Given the description of an element on the screen output the (x, y) to click on. 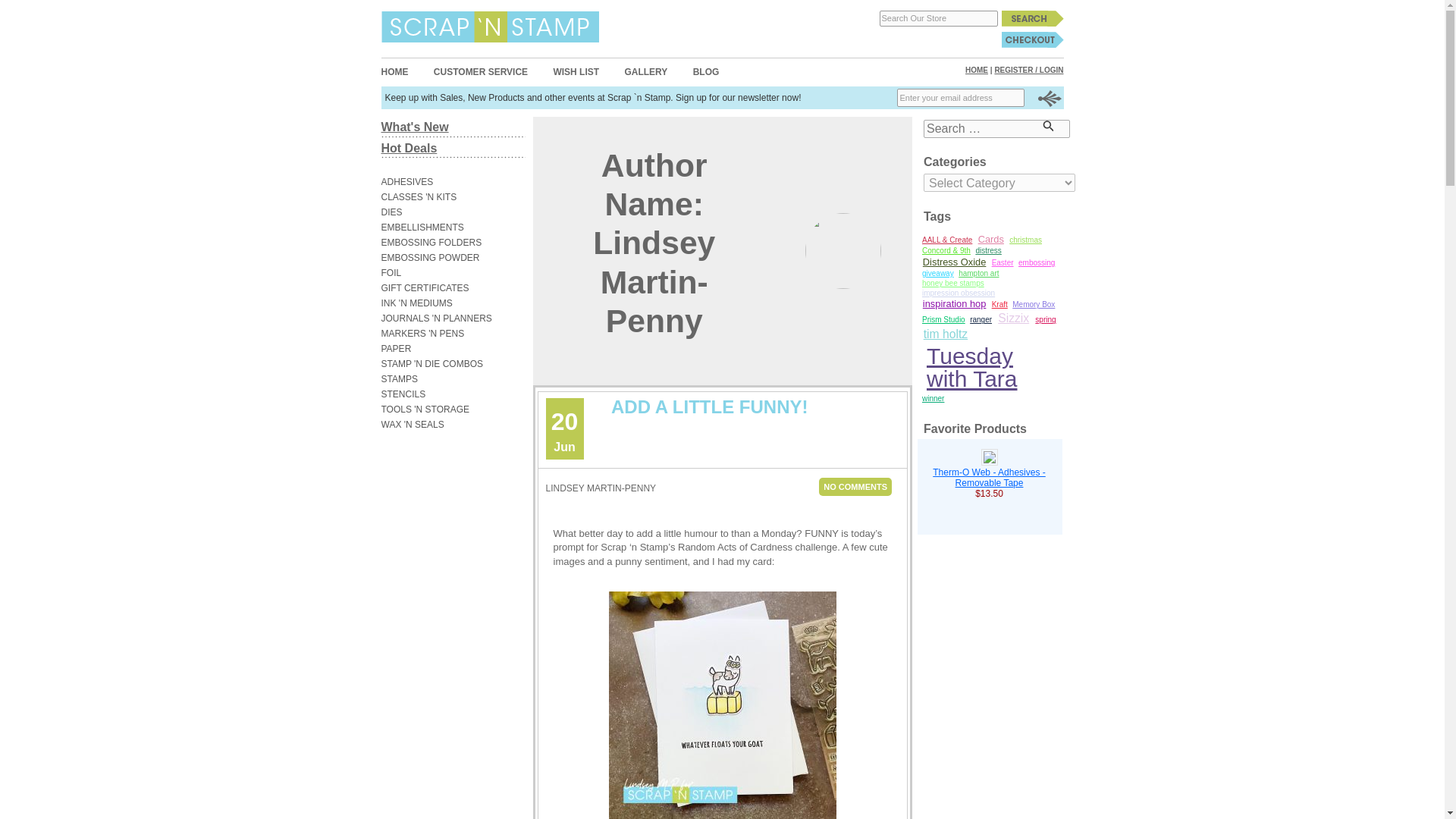
1 topic (978, 273)
BLOG (706, 71)
CLASSES 'N KITS (444, 196)
Hot Deals (408, 147)
WISH LIST (575, 71)
1 topic (958, 293)
1 topic (1036, 262)
Search Our Store (938, 18)
GALLERY (645, 71)
1 topic (1003, 262)
Search Our Store (938, 18)
2 topics (954, 262)
HOME (976, 70)
ADHESIVES (444, 181)
View all posts by Lindsey Martin-Penny (601, 488)
